Given the description of an element on the screen output the (x, y) to click on. 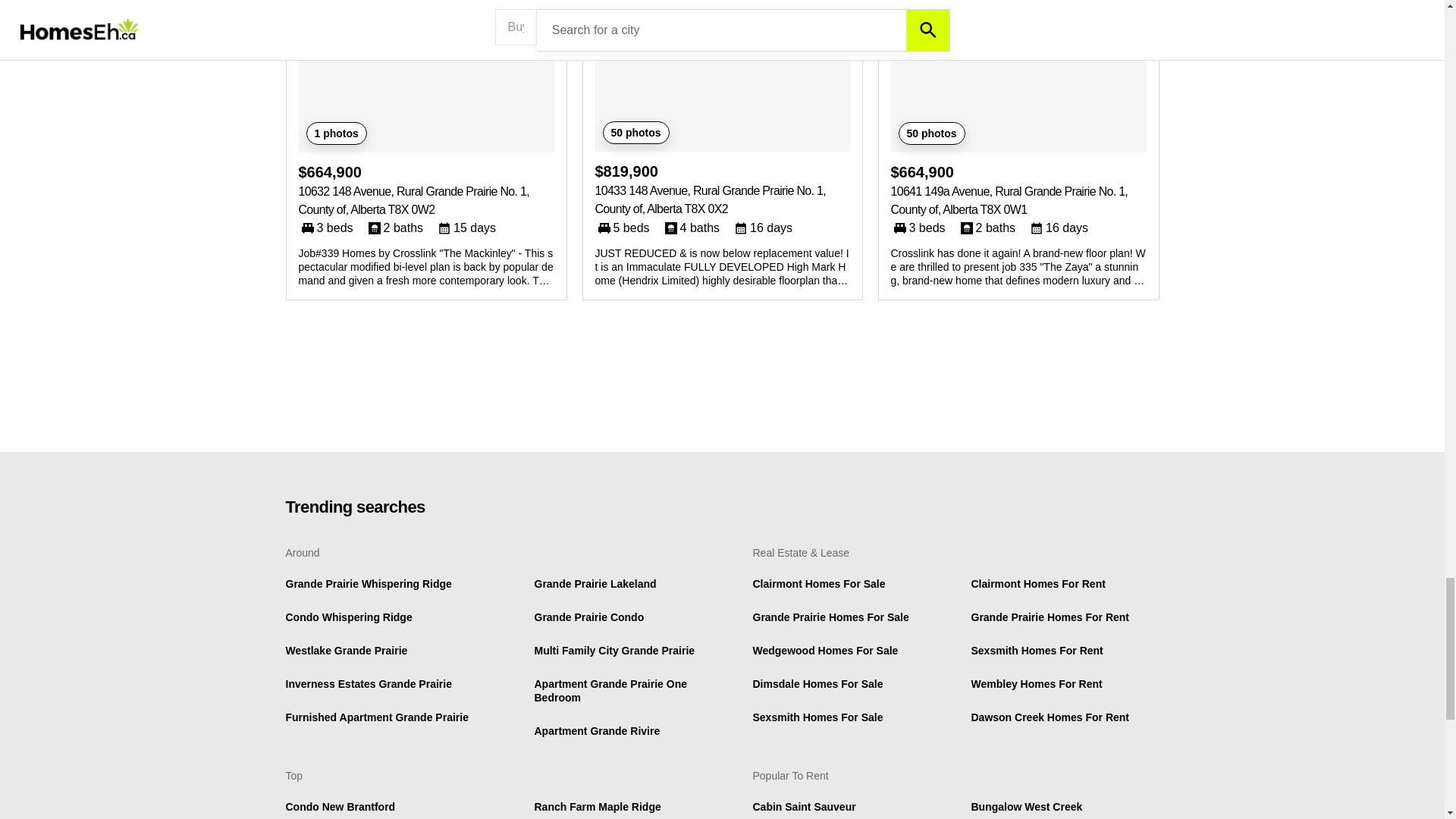
Grande Prairie Lakeland (595, 583)
Apartment Grande Prairie One Bedroom (610, 690)
Grande Prairie Homes For Sale (830, 616)
Condo Whispering Ridge (348, 616)
Grande Prairie Condo (588, 616)
Furnished Apartment Grande Prairie (376, 717)
Multi Family City Grande Prairie (614, 650)
Apartment Grande Rivire (596, 730)
Inverness Estates Grande Prairie (368, 684)
Clairmont Homes For Sale (818, 583)
